Given the description of an element on the screen output the (x, y) to click on. 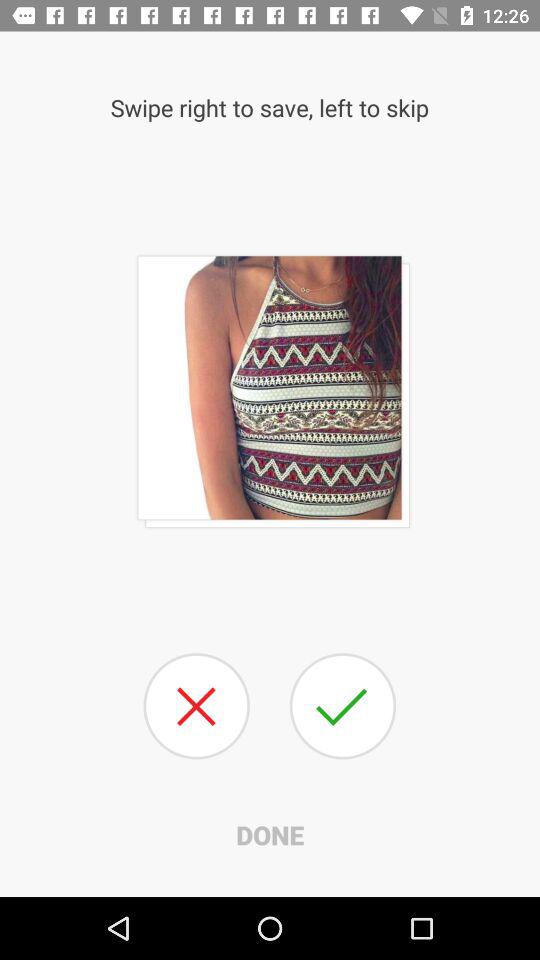
click to save (342, 705)
